Given the description of an element on the screen output the (x, y) to click on. 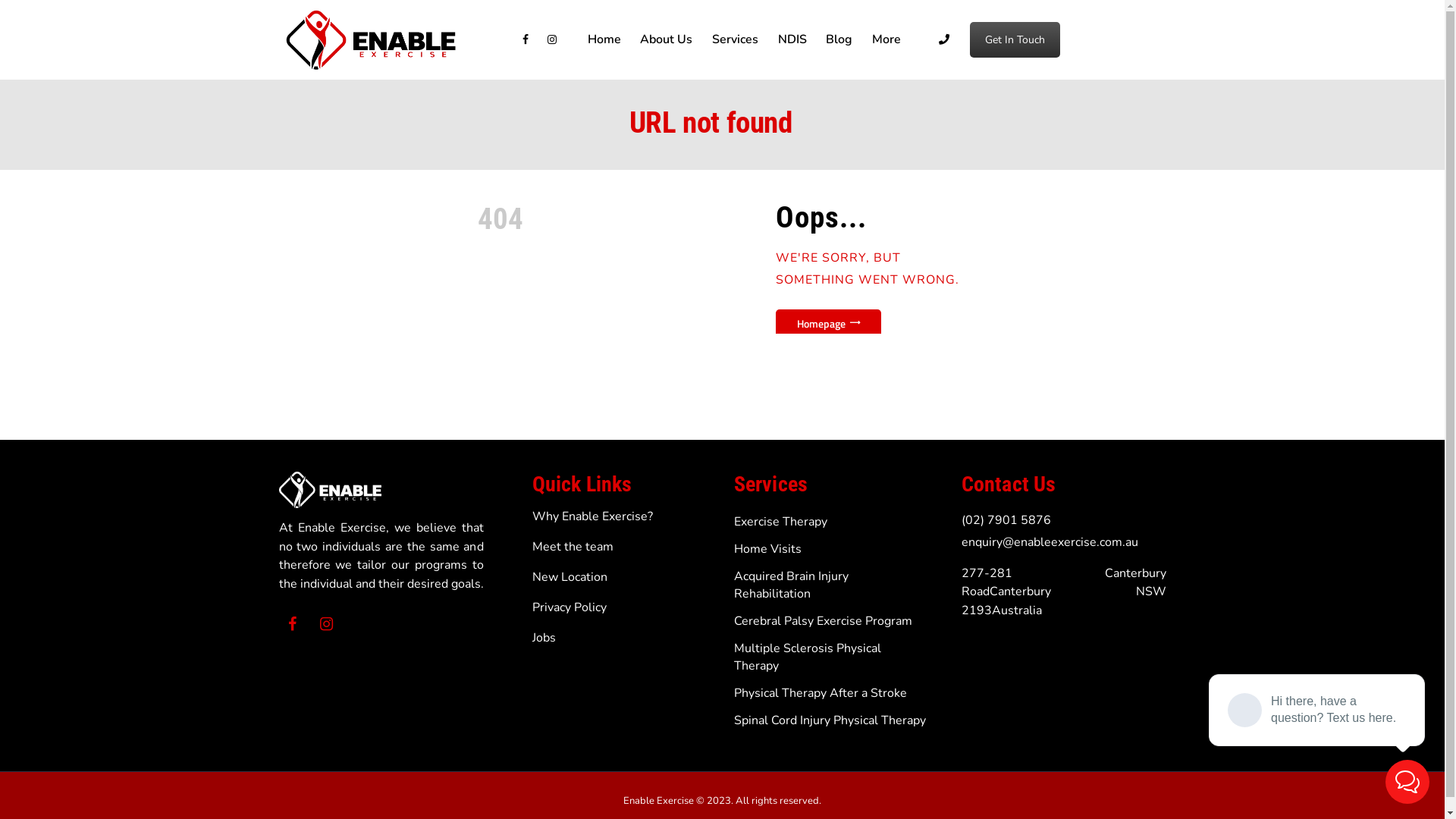
Spinal Cord Injury Physical Therapy Element type: text (829, 720)
(02) 7901 5876 Element type: text (1006, 519)
Get In Touch Element type: text (1014, 39)
Meet the team Element type: text (572, 546)
More Element type: text (886, 39)
About Us Element type: text (666, 39)
Home Visits Element type: text (767, 548)
New Location Element type: text (569, 576)
Why Enable Exercise? Element type: text (592, 516)
Services Element type: text (735, 39)
Blog Element type: text (838, 39)
Enable Exercise Element type: text (658, 800)
Multiple Sclerosis Physical Therapy Element type: text (807, 657)
Privacy Policy Element type: text (569, 607)
enquiry@enableexercise.com.au Element type: text (1049, 541)
Physical Therapy After a Stroke Element type: text (820, 692)
Home Element type: text (603, 39)
Jobs Element type: text (543, 637)
Cerebral Palsy Exercise Program Element type: text (823, 620)
Exercise Therapy Element type: text (780, 521)
277-281 Canterbury RoadCanterbury NSW 2193Australia Element type: text (1063, 591)
Homepage Element type: text (828, 322)
NDIS Element type: text (792, 39)
Acquired Brain Injury Rehabilitation Element type: text (791, 584)
